Given the description of an element on the screen output the (x, y) to click on. 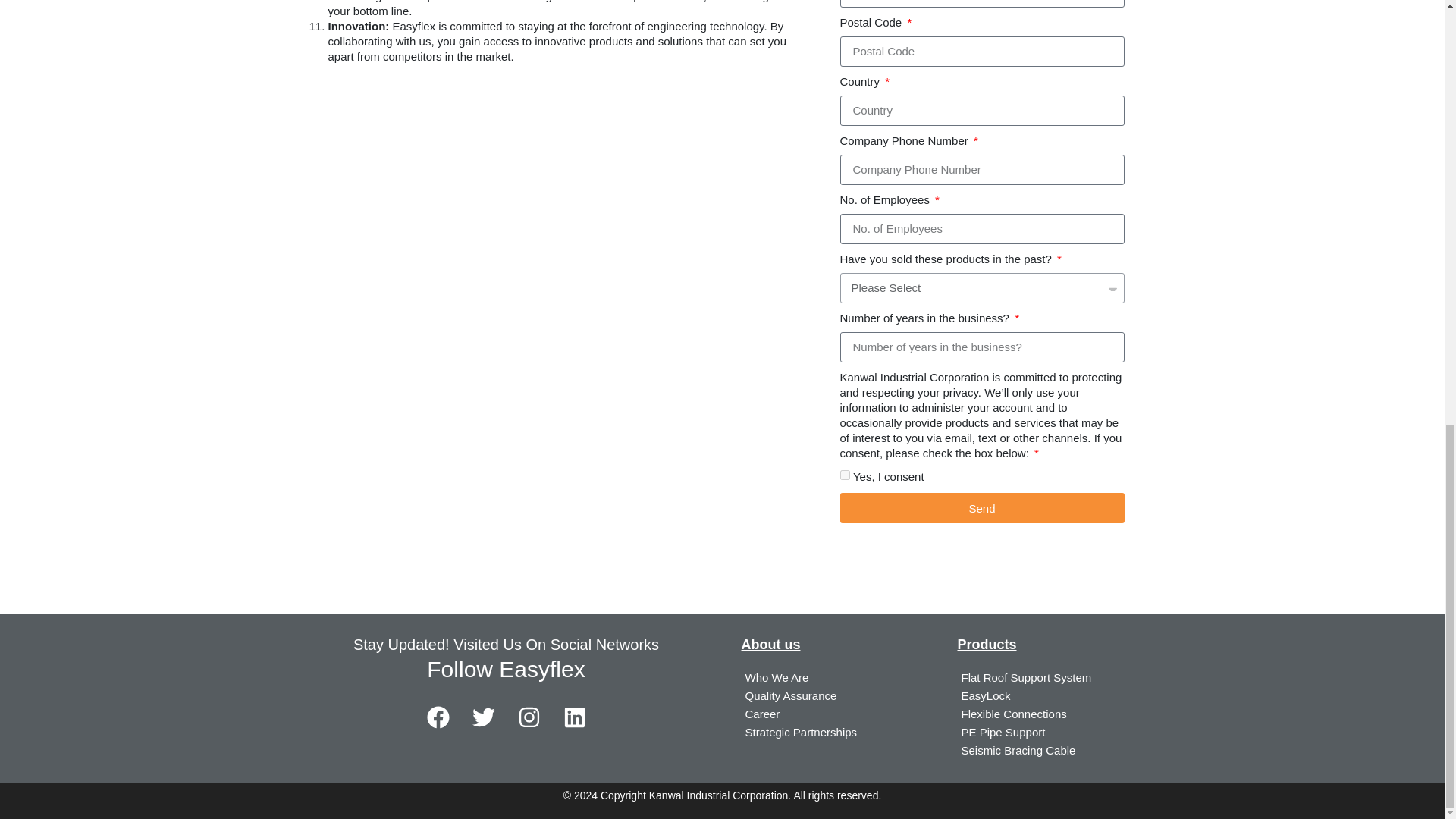
on (845, 474)
